Given the description of an element on the screen output the (x, y) to click on. 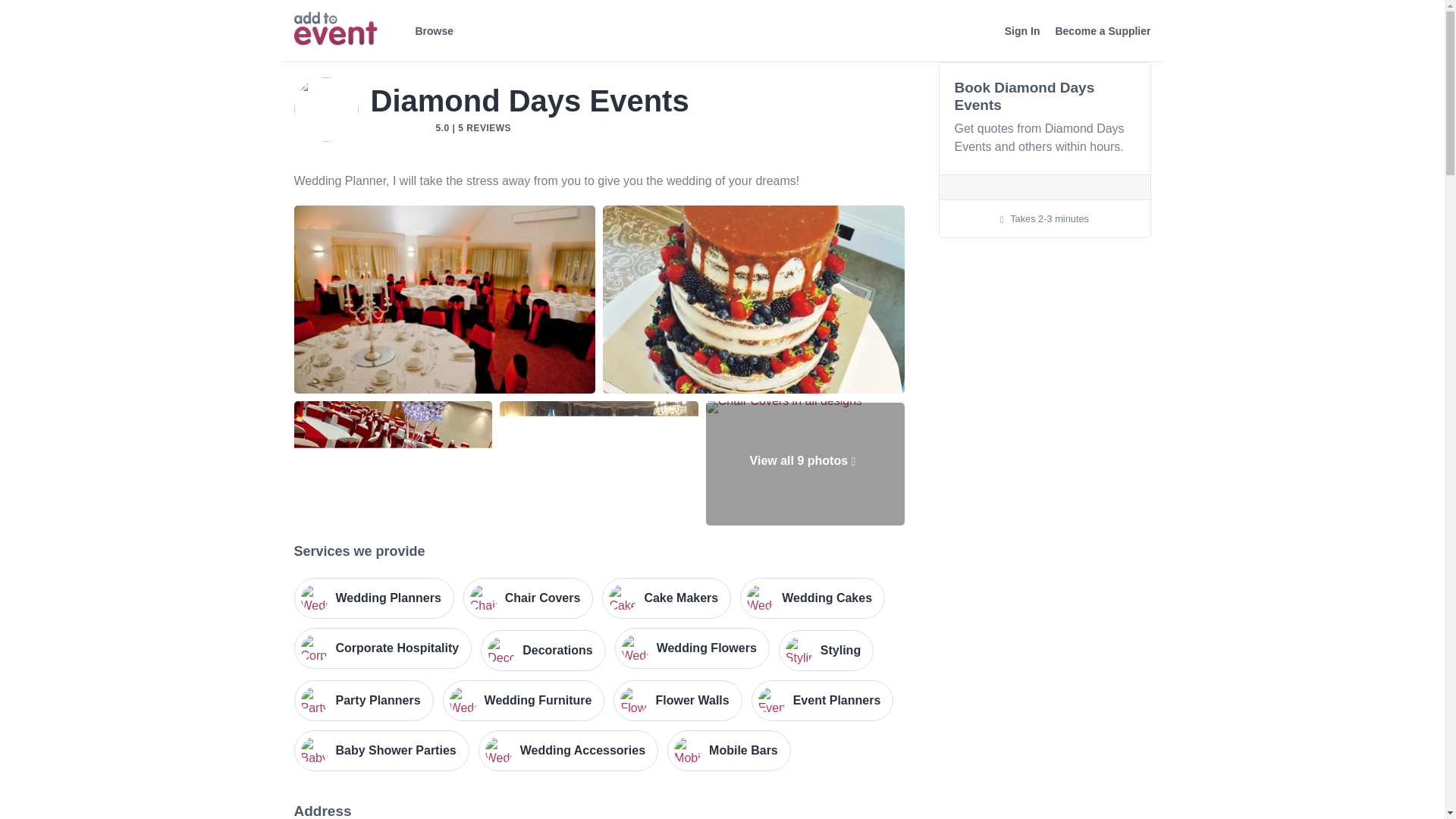
Black and Red Wedding Design (444, 299)
Chair Covers (528, 598)
Home (335, 28)
Decorations (542, 649)
Styling (825, 649)
Wedding Planners (374, 598)
Wedding Flowers (692, 648)
Party Planners (363, 700)
Wedding Set up (598, 463)
Delicious Summer Wedding Cake (753, 299)
Become a Supplier (1102, 31)
Red Design (393, 463)
Cake Makers (666, 598)
Wedding Cakes (812, 598)
